Given the description of an element on the screen output the (x, y) to click on. 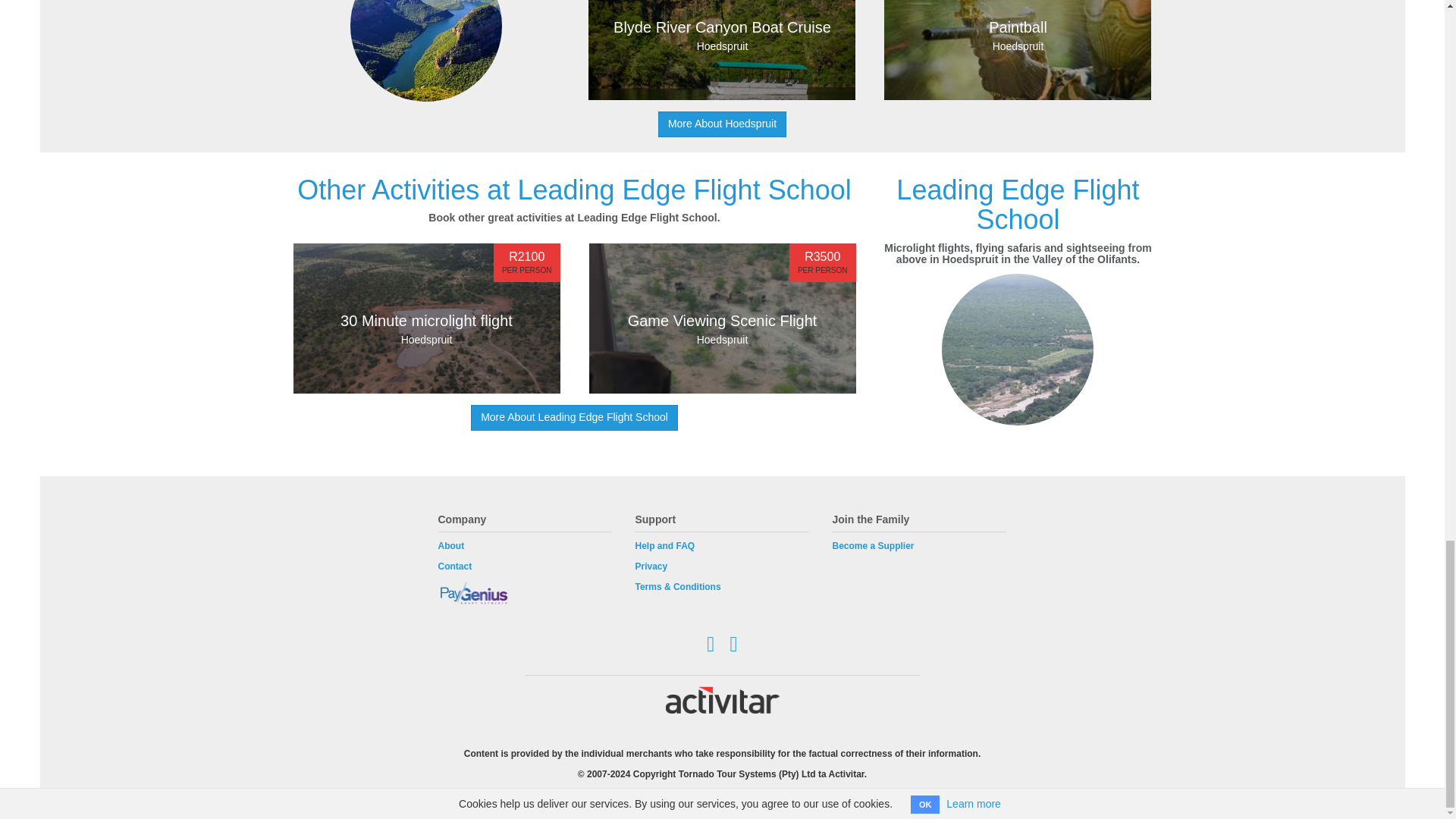
About (1017, 49)
More About Hoedspruit (451, 545)
More About Leading Edge Flight School (722, 124)
Contact (425, 318)
